Given the description of an element on the screen output the (x, y) to click on. 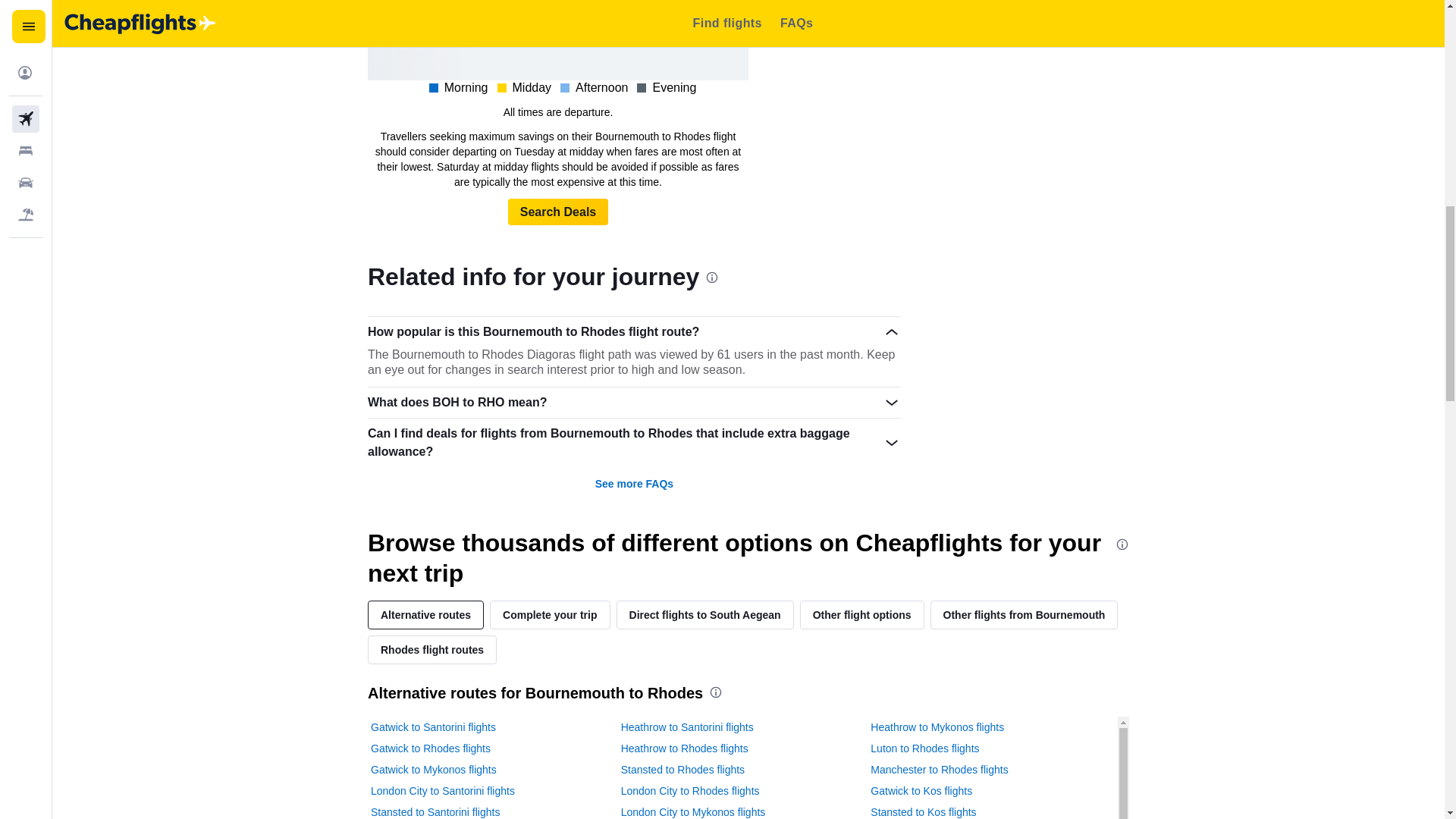
Other flight options (861, 614)
Rhodes flight routes (432, 649)
Search Deals (558, 212)
London City to Santorini flights (443, 790)
Stansted to Santorini flights (435, 811)
Gatwick to Kos flights (921, 790)
Stansted to Kos flights (922, 811)
Direct flights to South Aegean (704, 614)
Other flights from Bournemouth (1024, 614)
Complete your trip (549, 614)
